Given the description of an element on the screen output the (x, y) to click on. 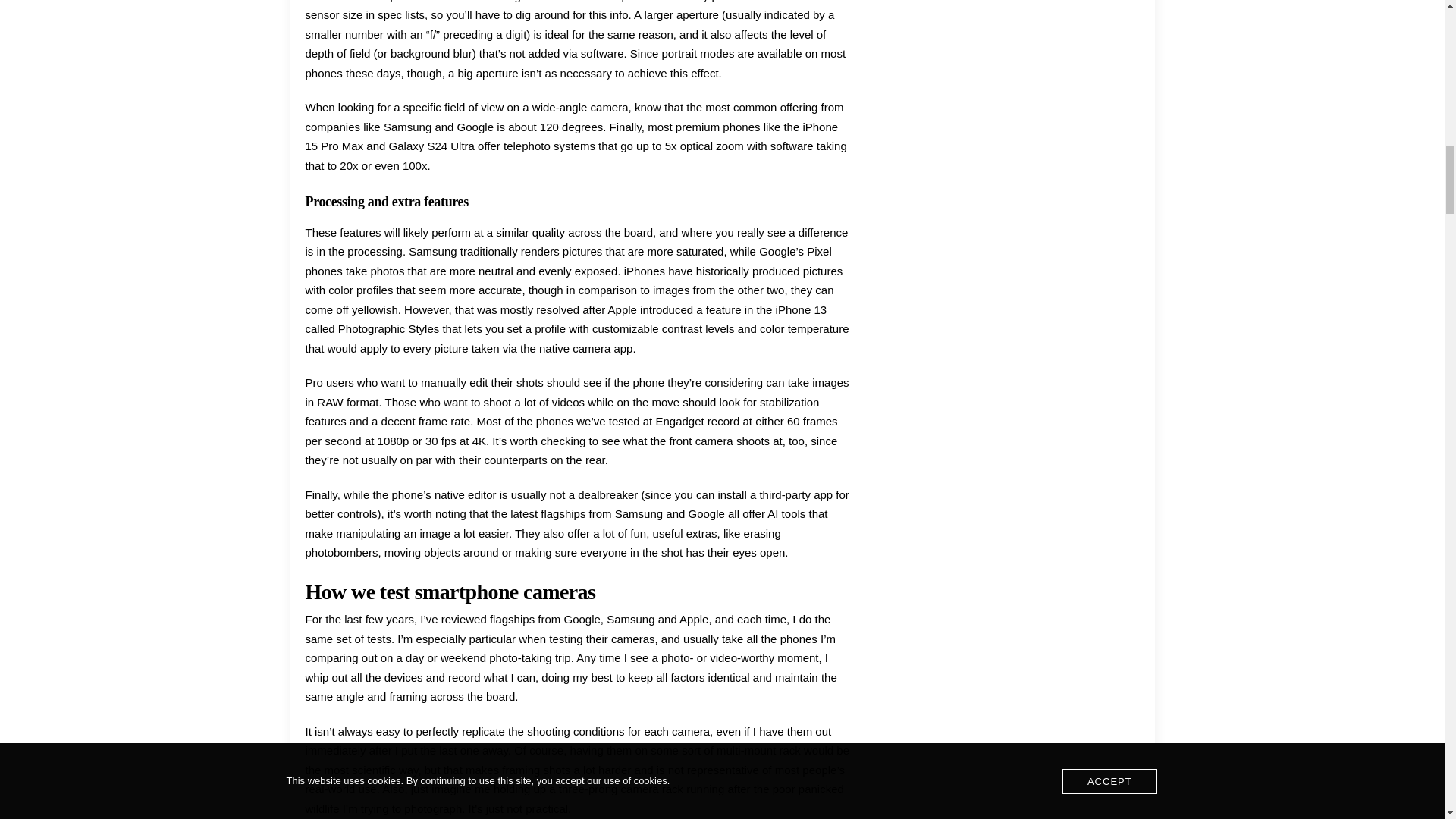
the iPhone 13 (792, 309)
